Given the description of an element on the screen output the (x, y) to click on. 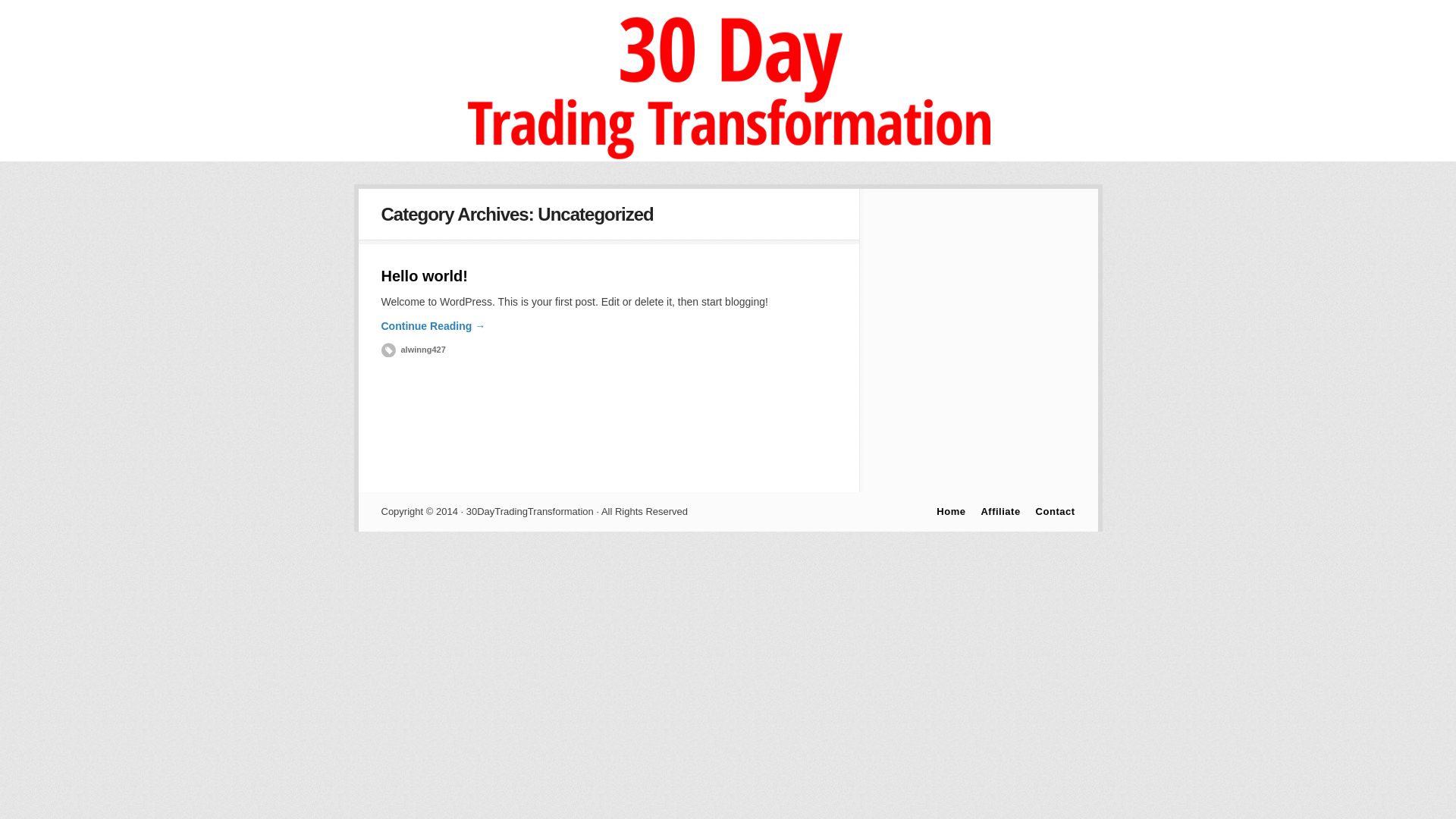
Affiliate Element type: text (999, 511)
30 Day Trading Transformation Element type: hover (727, 157)
Hello world! Element type: text (423, 275)
Contact Element type: text (1055, 511)
alwinng427 Element type: text (412, 349)
Home Element type: text (950, 511)
